Given the description of an element on the screen output the (x, y) to click on. 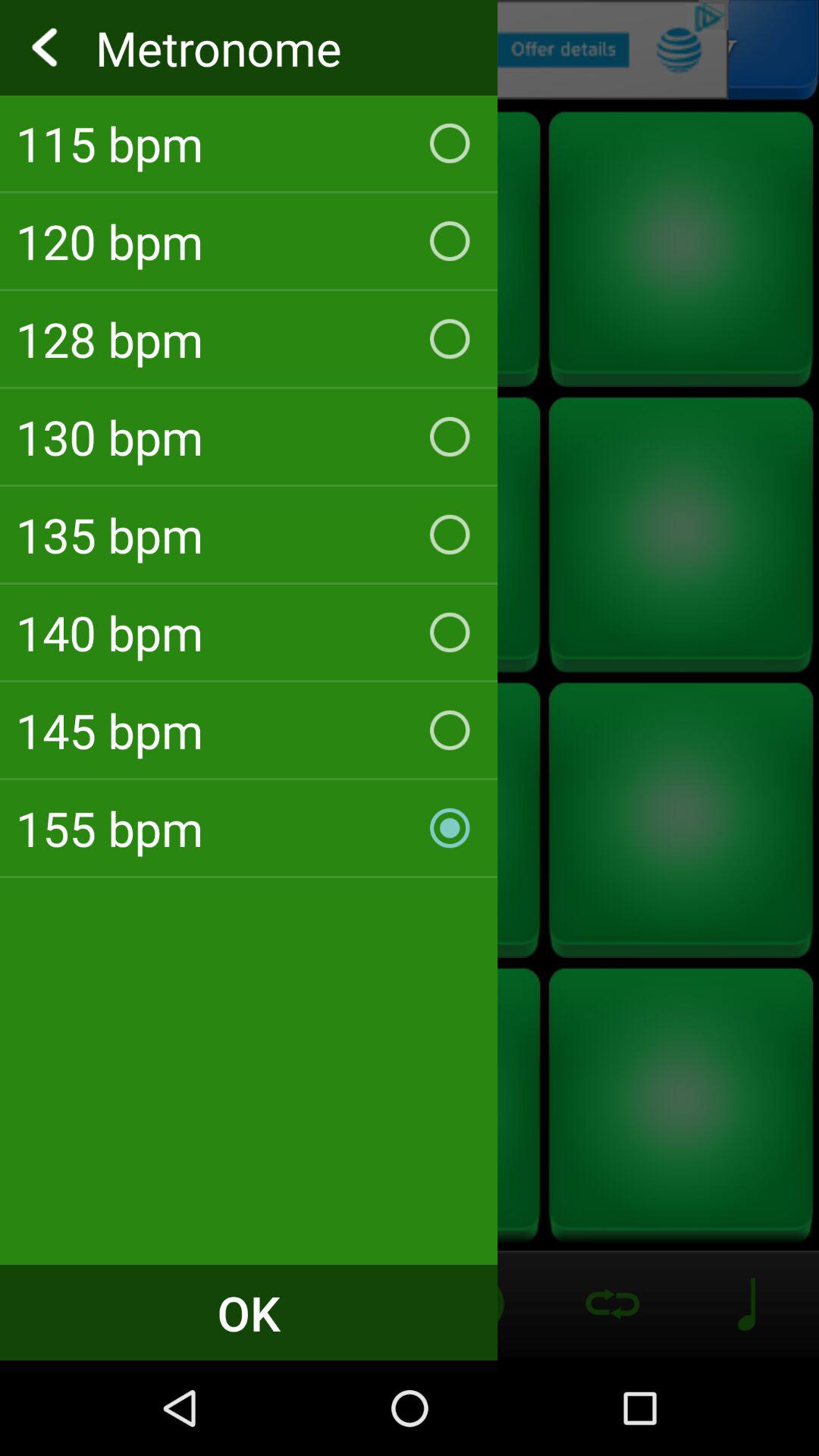
launch the checkbox above the 120 bpm (248, 143)
